Given the description of an element on the screen output the (x, y) to click on. 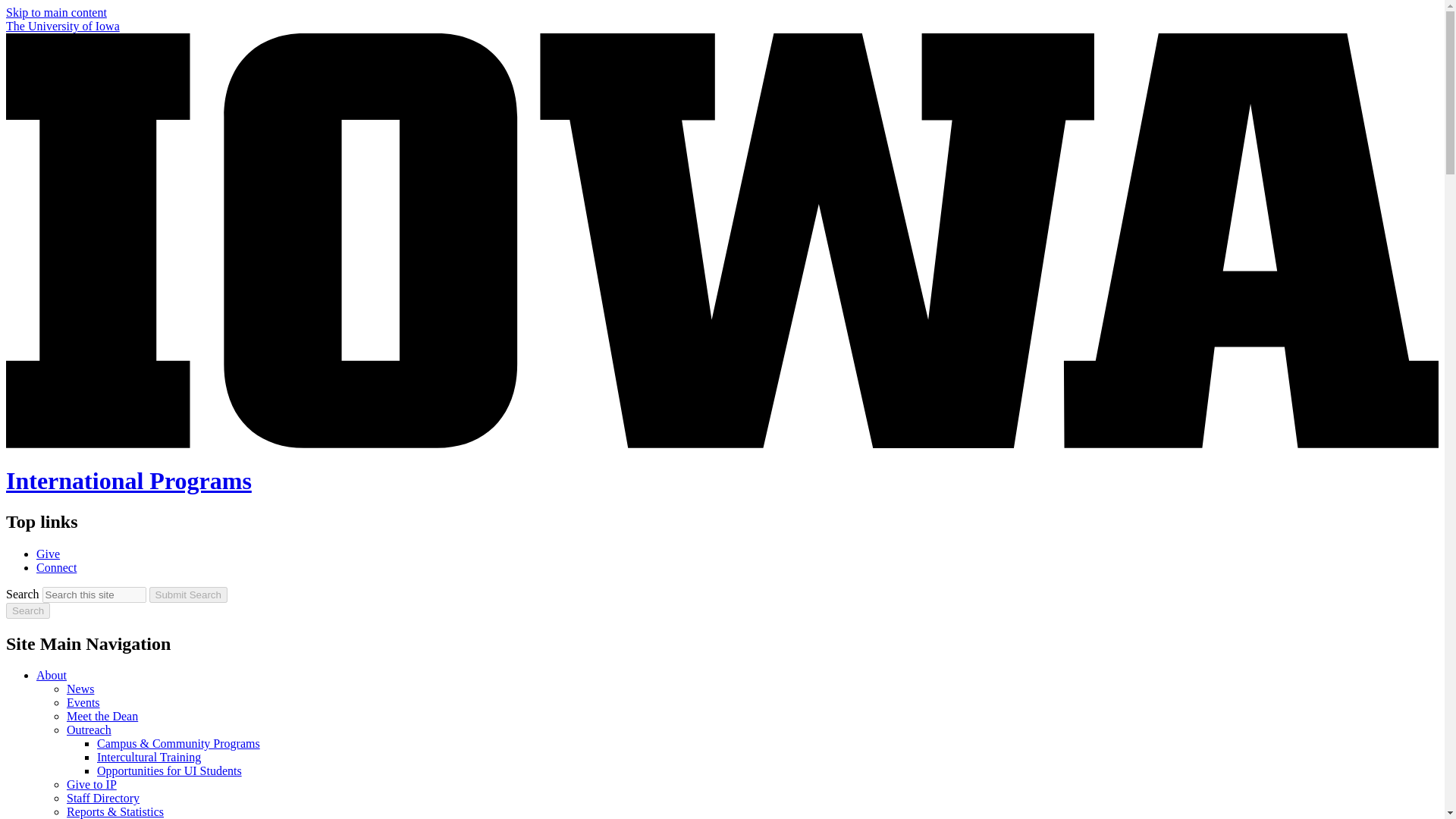
Search (27, 610)
Outreach (89, 729)
Meet the Dean (102, 716)
Events (83, 702)
Give to IP (91, 784)
Intercultural Training (148, 757)
Skip to main content (55, 11)
Give (47, 553)
Opportunities for UI Students (169, 770)
Staff Directory (102, 797)
